Given the description of an element on the screen output the (x, y) to click on. 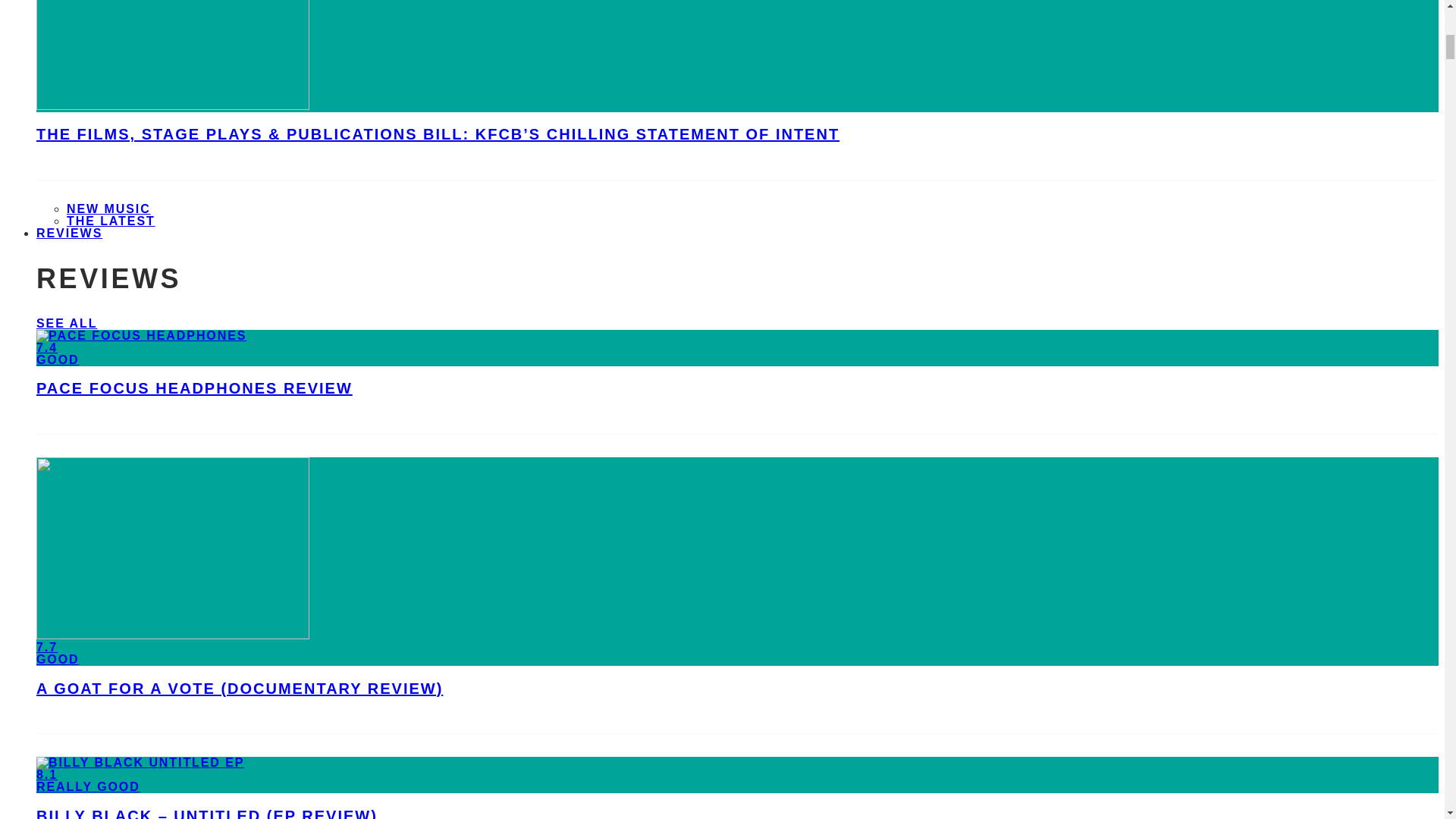
PACE FOCUS HEADPHONES REVIEW (194, 388)
THE LATEST (110, 220)
NEW MUSIC (108, 208)
REVIEWS (68, 232)
SEE ALL (66, 323)
